Given the description of an element on the screen output the (x, y) to click on. 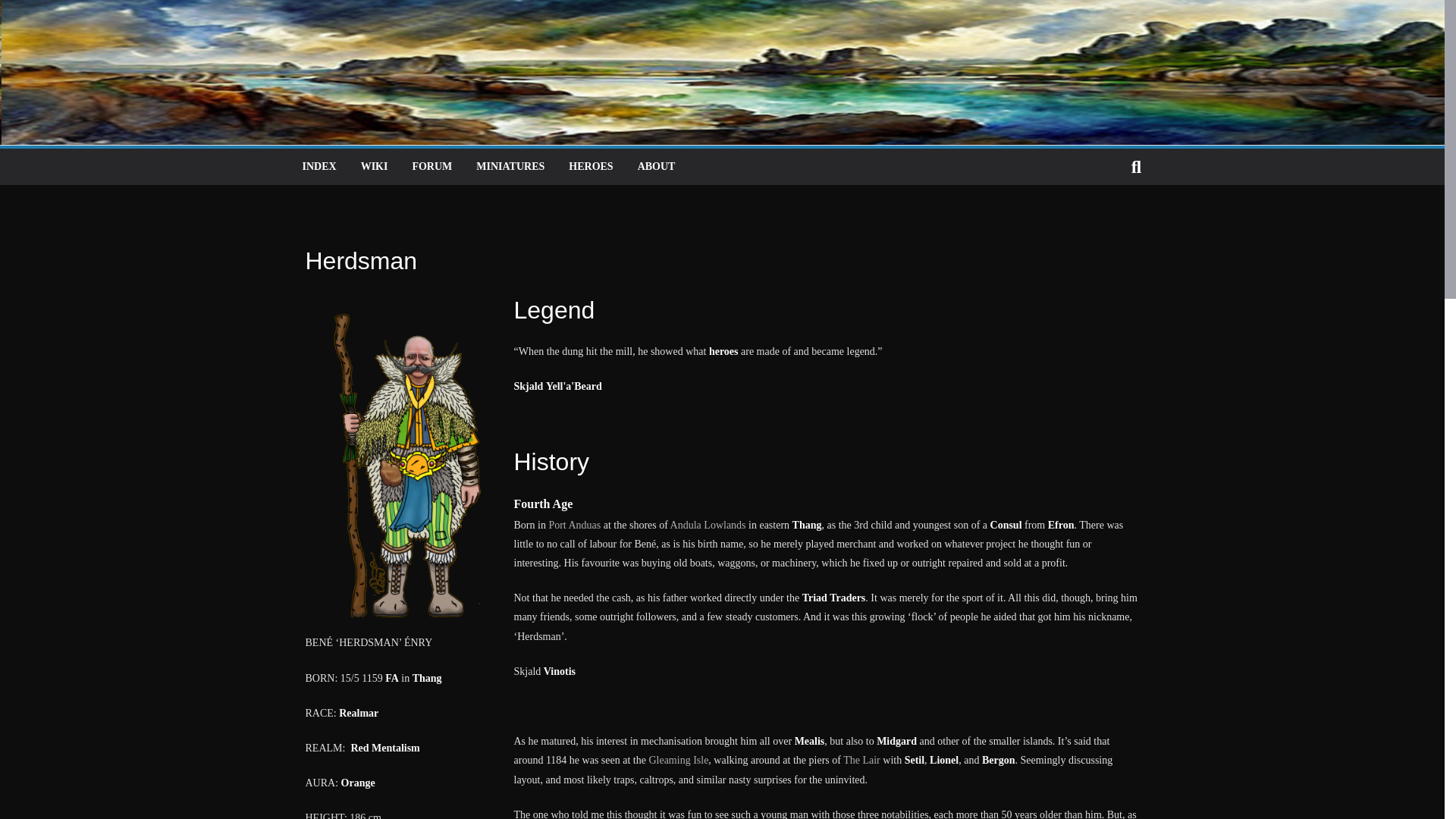
HEROES (590, 166)
INDEX (318, 166)
Bergon (997, 759)
Yell'a'Beard (574, 386)
Red Mentalism (384, 747)
Vinotis (559, 671)
Fourth Age (543, 503)
WIKI (374, 166)
Skjald (528, 386)
MINIATURES (510, 166)
